Given the description of an element on the screen output the (x, y) to click on. 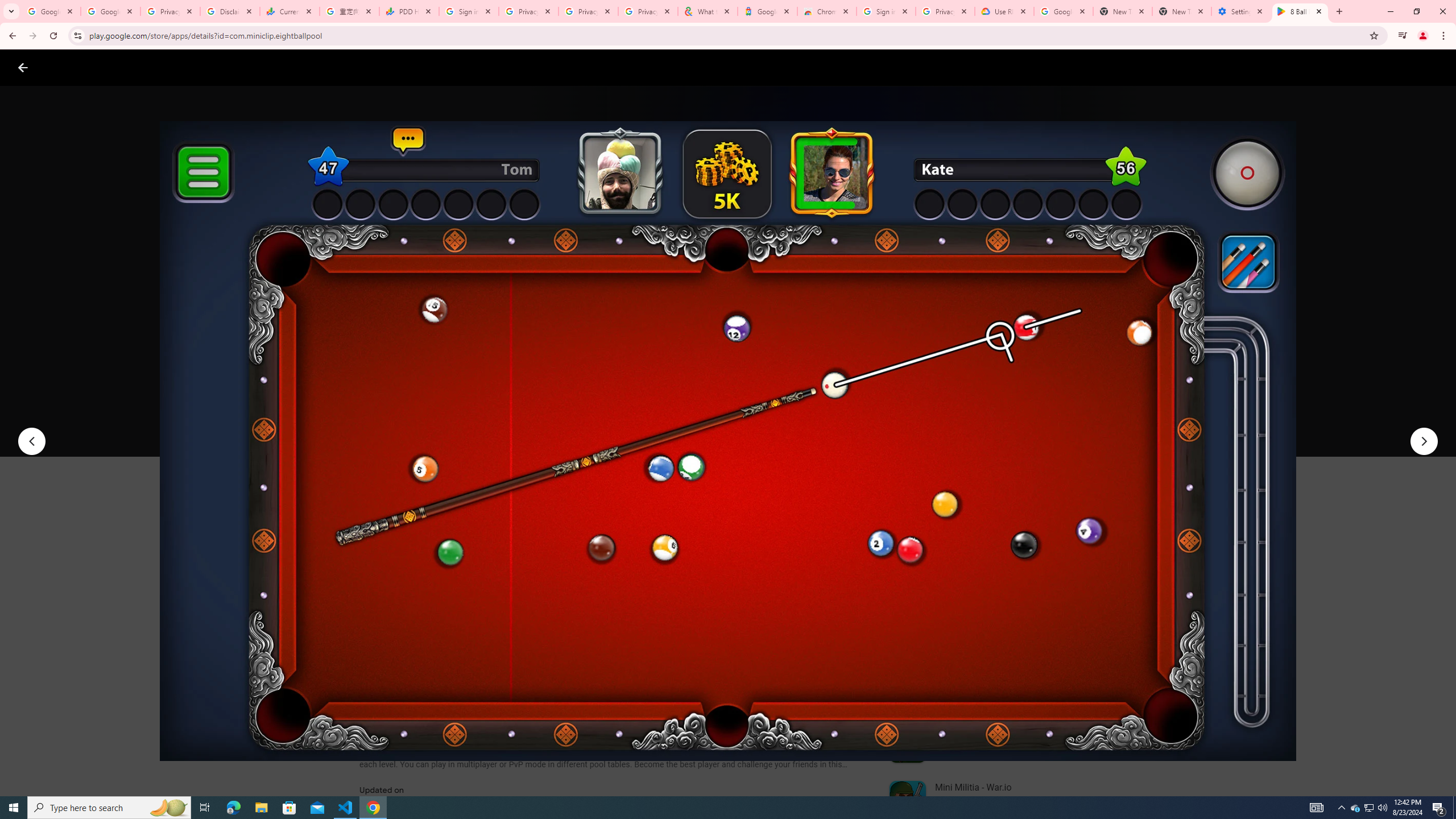
Help Center (1409, 67)
Privacy Checkup (588, 11)
Sign in - Google Accounts (885, 11)
Add to wishlist (576, 422)
Open account menu (1436, 67)
Screenshot image (817, 563)
Chrome Web Store - Color themes by Chrome (826, 11)
